Given the description of an element on the screen output the (x, y) to click on. 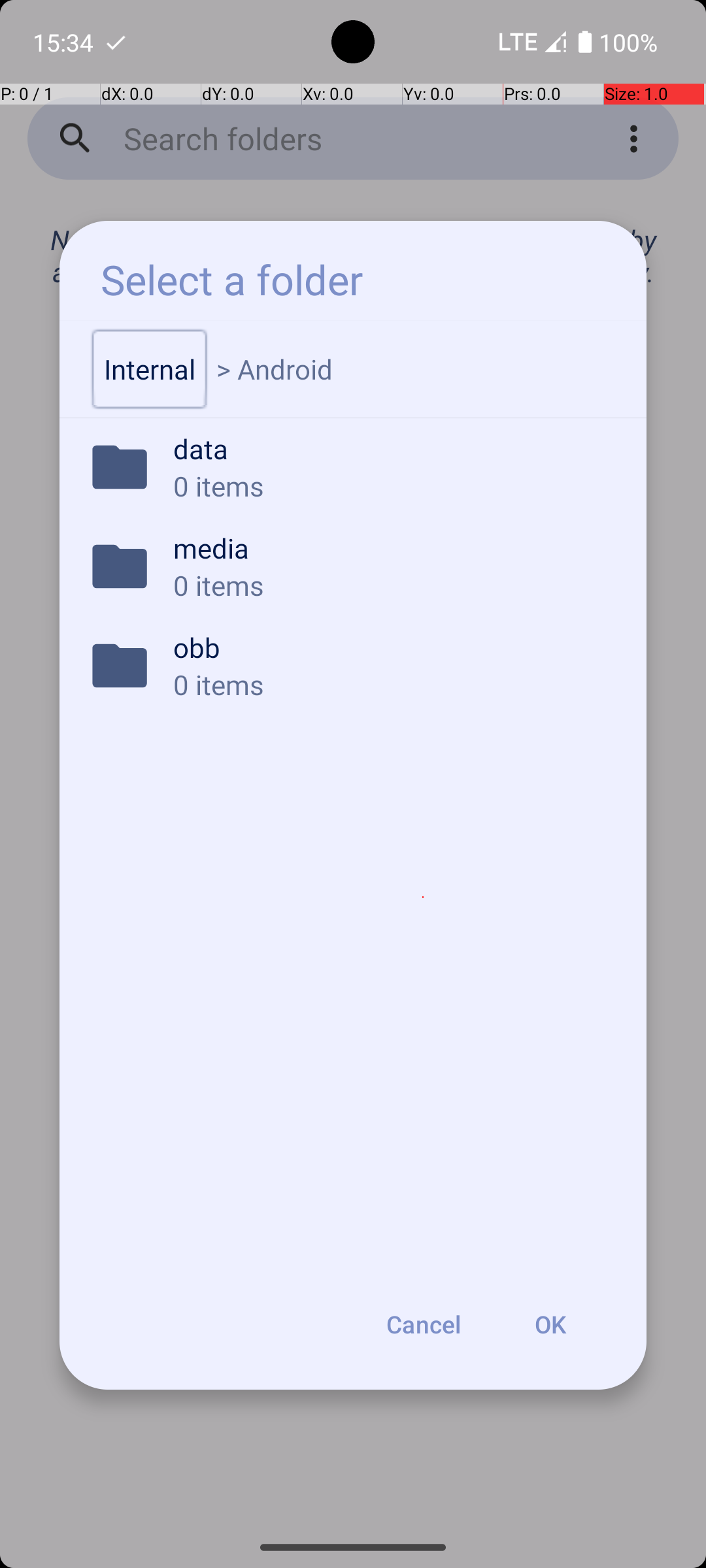
Select a folder Element type: android.widget.TextView (231, 279)
Internal Element type: android.widget.TextView (149, 368)
> Android Element type: android.widget.TextView (274, 368)
data Element type: android.widget.TextView (392, 448)
0 items Element type: android.widget.TextView (392, 485)
media Element type: android.widget.TextView (392, 547)
obb Element type: android.widget.TextView (392, 646)
